Given the description of an element on the screen output the (x, y) to click on. 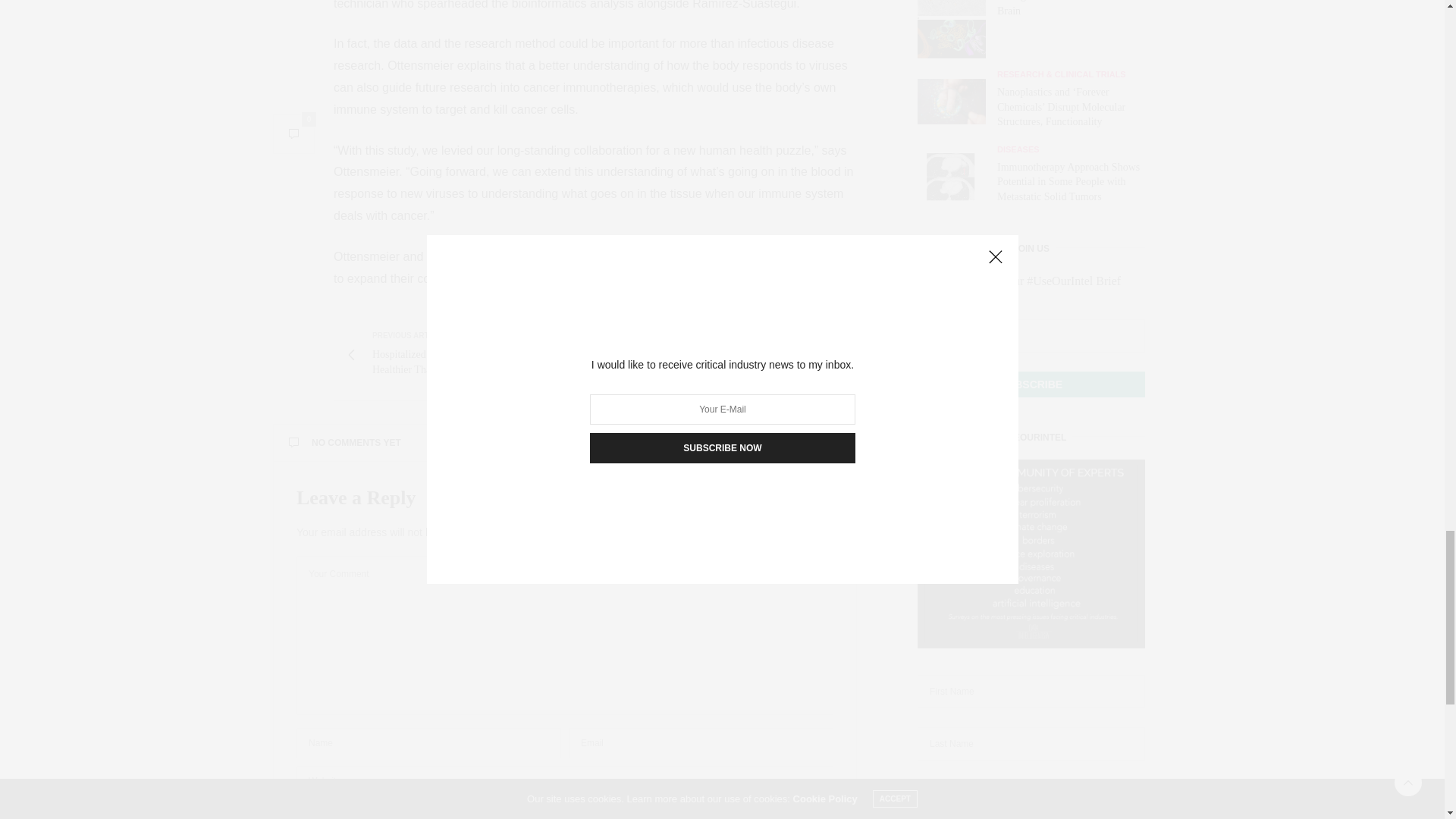
Submit Comment (564, 811)
